Given the description of an element on the screen output the (x, y) to click on. 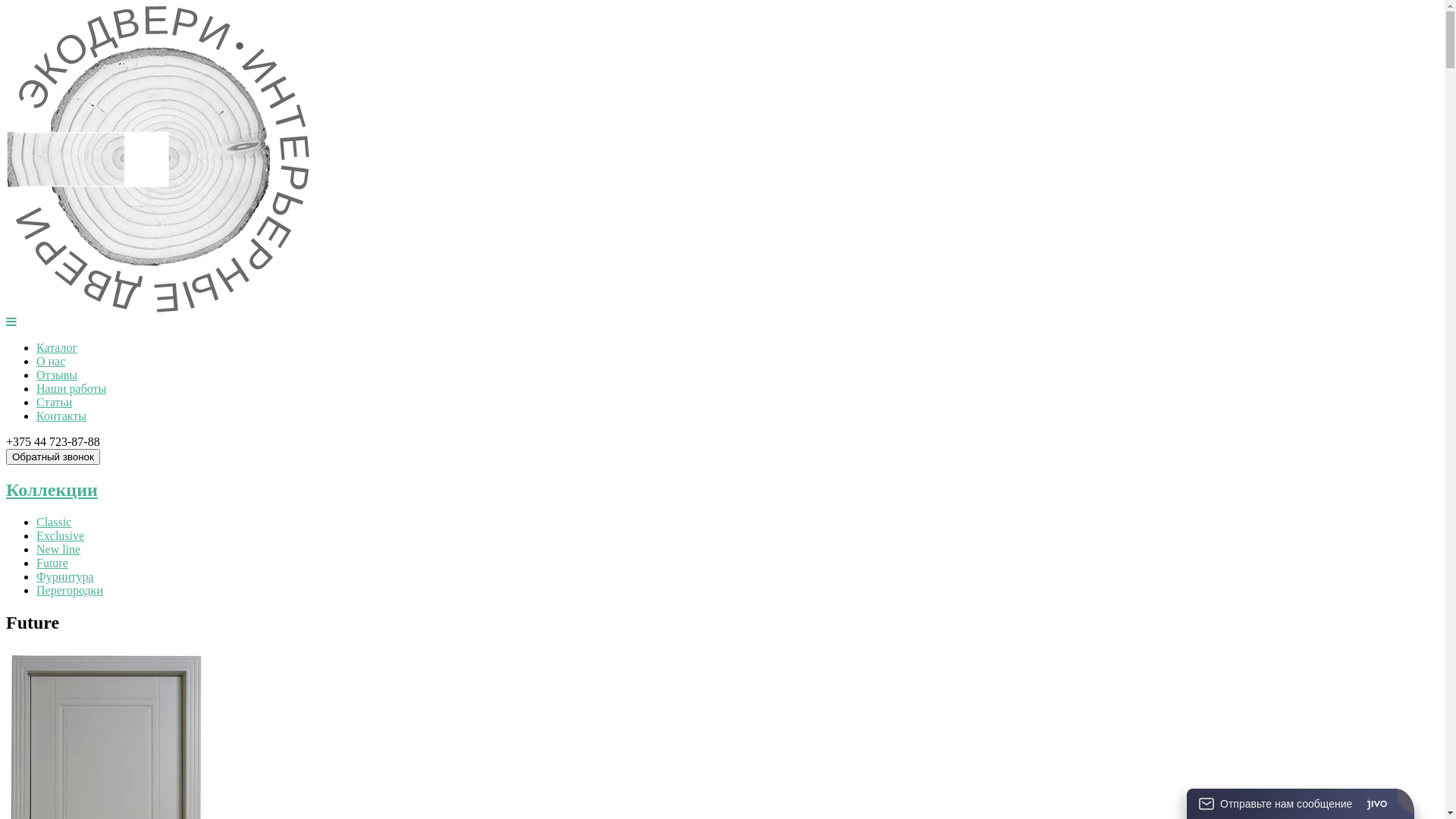
New line Element type: text (58, 548)
Classic Element type: text (53, 521)
Exclusive Element type: text (60, 535)
Future Element type: text (52, 562)
